Given the description of an element on the screen output the (x, y) to click on. 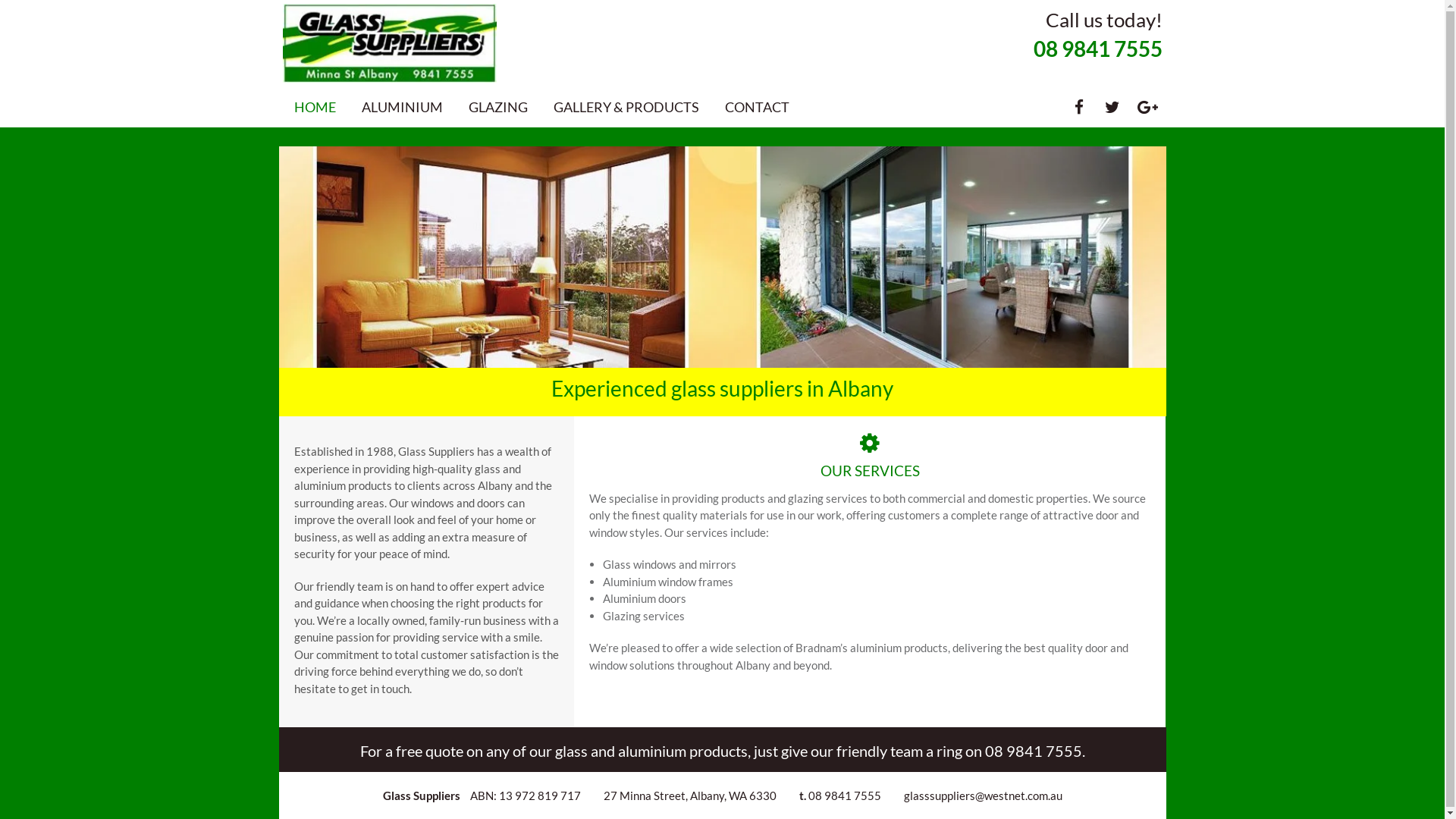
CONTACT Element type: text (756, 106)
GLAZING Element type: text (497, 106)
08 9841 7555 Element type: text (1096, 48)
HOME Element type: text (314, 106)
glasssuppliers@westnet.com.au Element type: text (982, 795)
glass suppliers logo Element type: hover (389, 42)
08 9841 7555 Element type: text (844, 795)
GALLERY & PRODUCTS Element type: text (626, 106)
ALUMINIUM Element type: text (401, 106)
08 9841 7555 Element type: text (1032, 750)
